Given the description of an element on the screen output the (x, y) to click on. 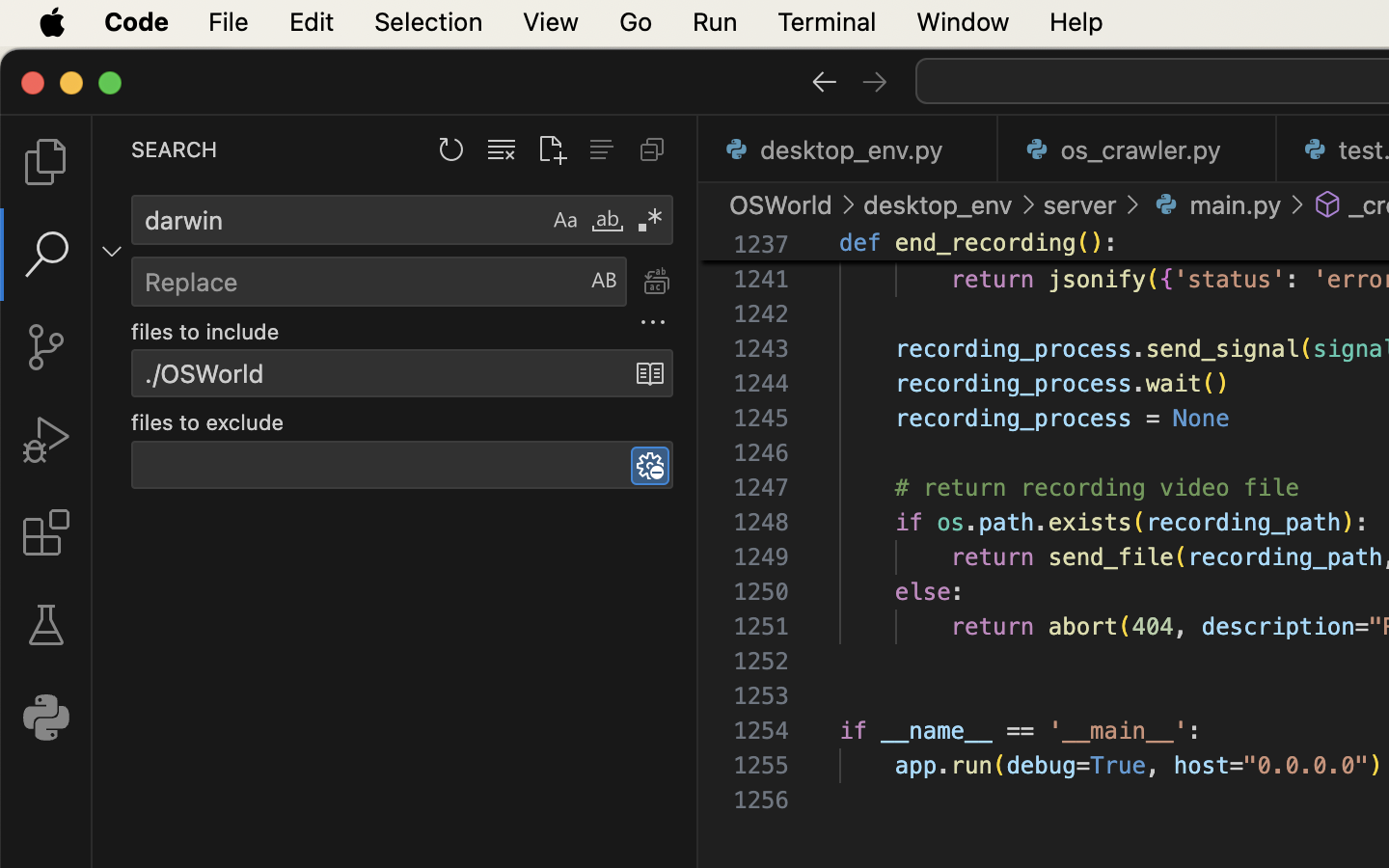
 Element type: AXStaticText (1327, 204)
